Given the description of an element on the screen output the (x, y) to click on. 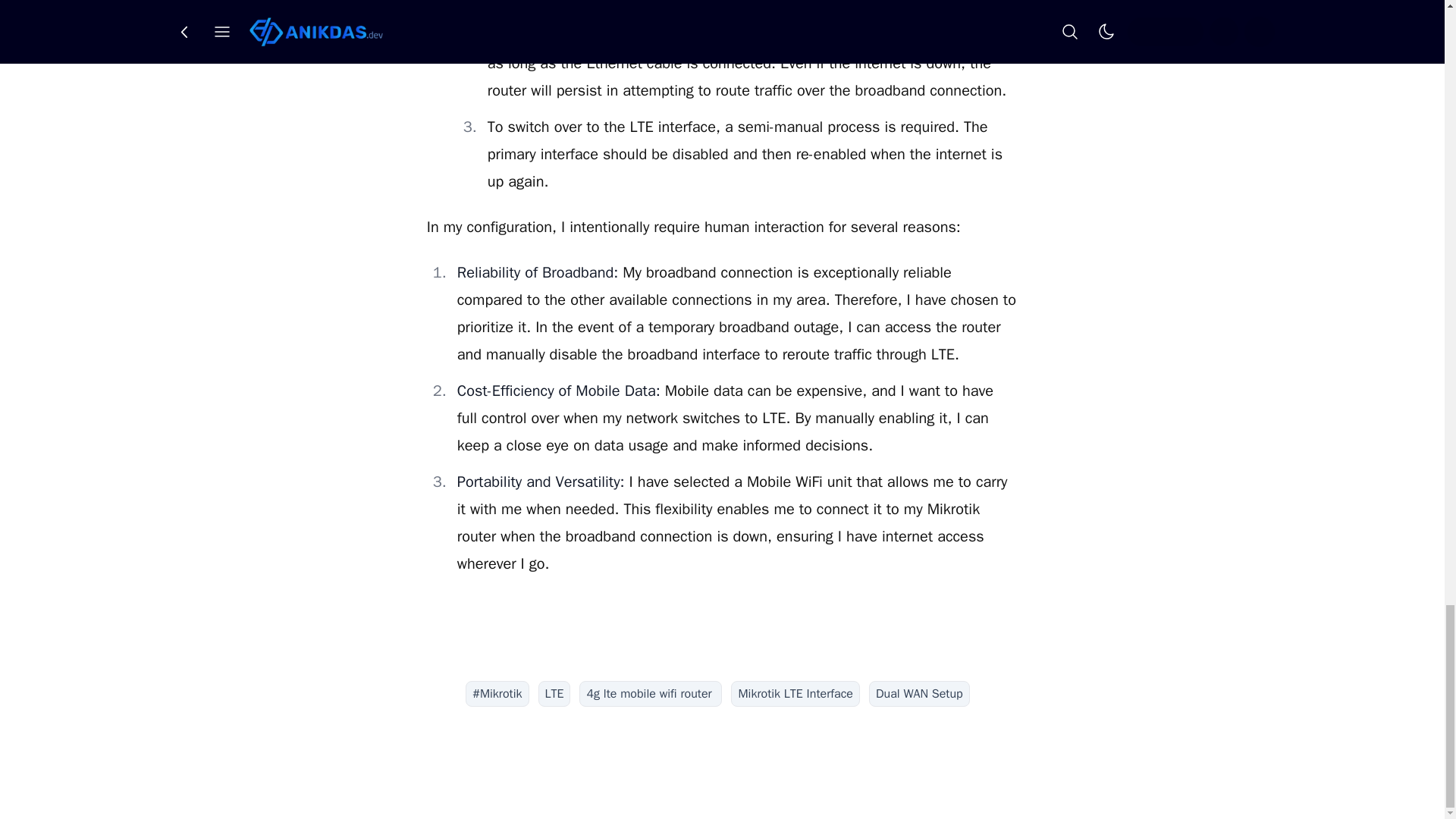
Dual WAN Setup (919, 693)
4g lte mobile wifi router  (650, 693)
LTE (554, 693)
Mikrotik LTE Interface (795, 693)
